Given the description of an element on the screen output the (x, y) to click on. 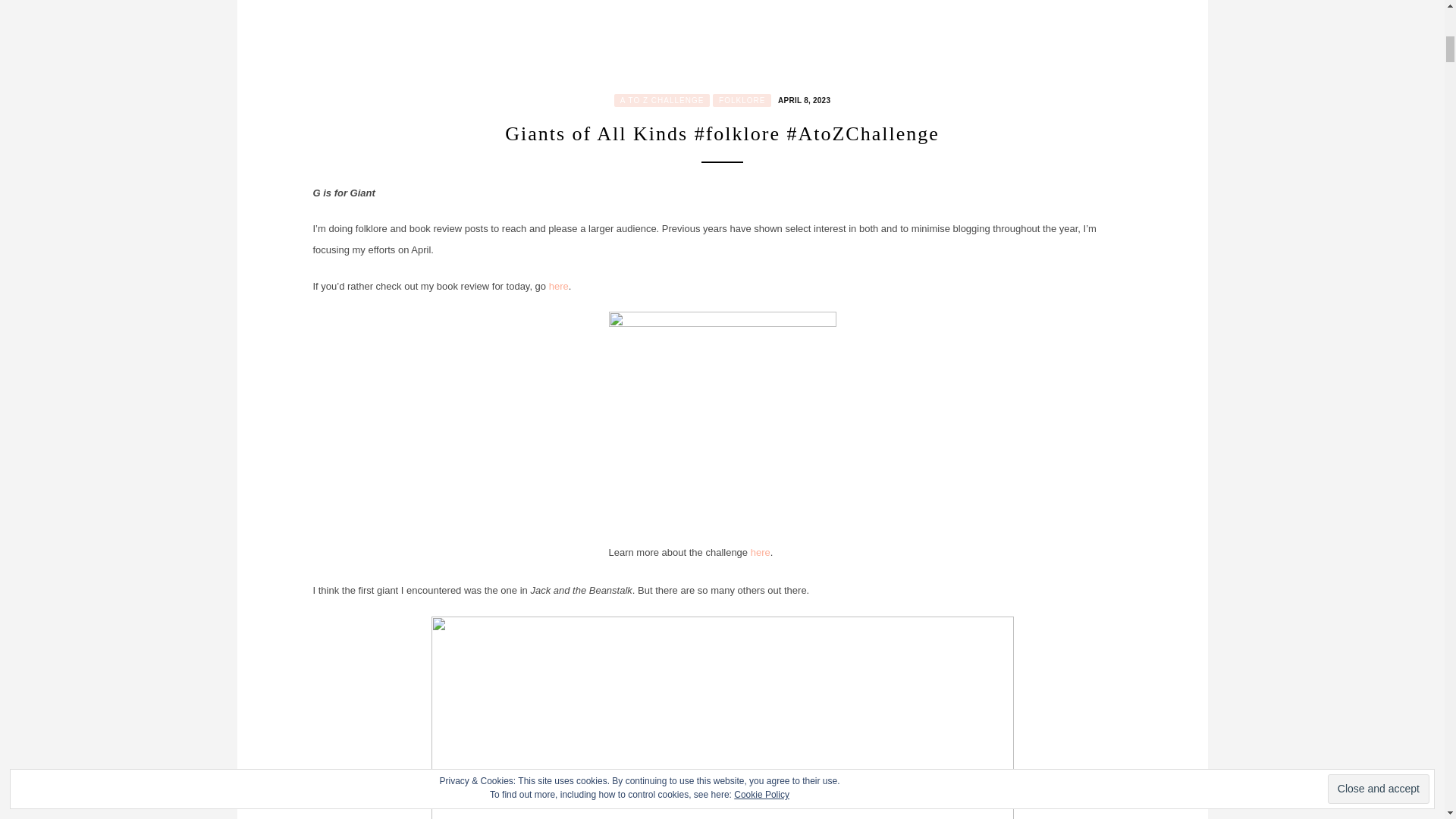
APRIL 8, 2023 (801, 99)
A TO Z CHALLENGE (662, 100)
here (558, 285)
FOLKLORE (742, 100)
here (760, 552)
